Given the description of an element on the screen output the (x, y) to click on. 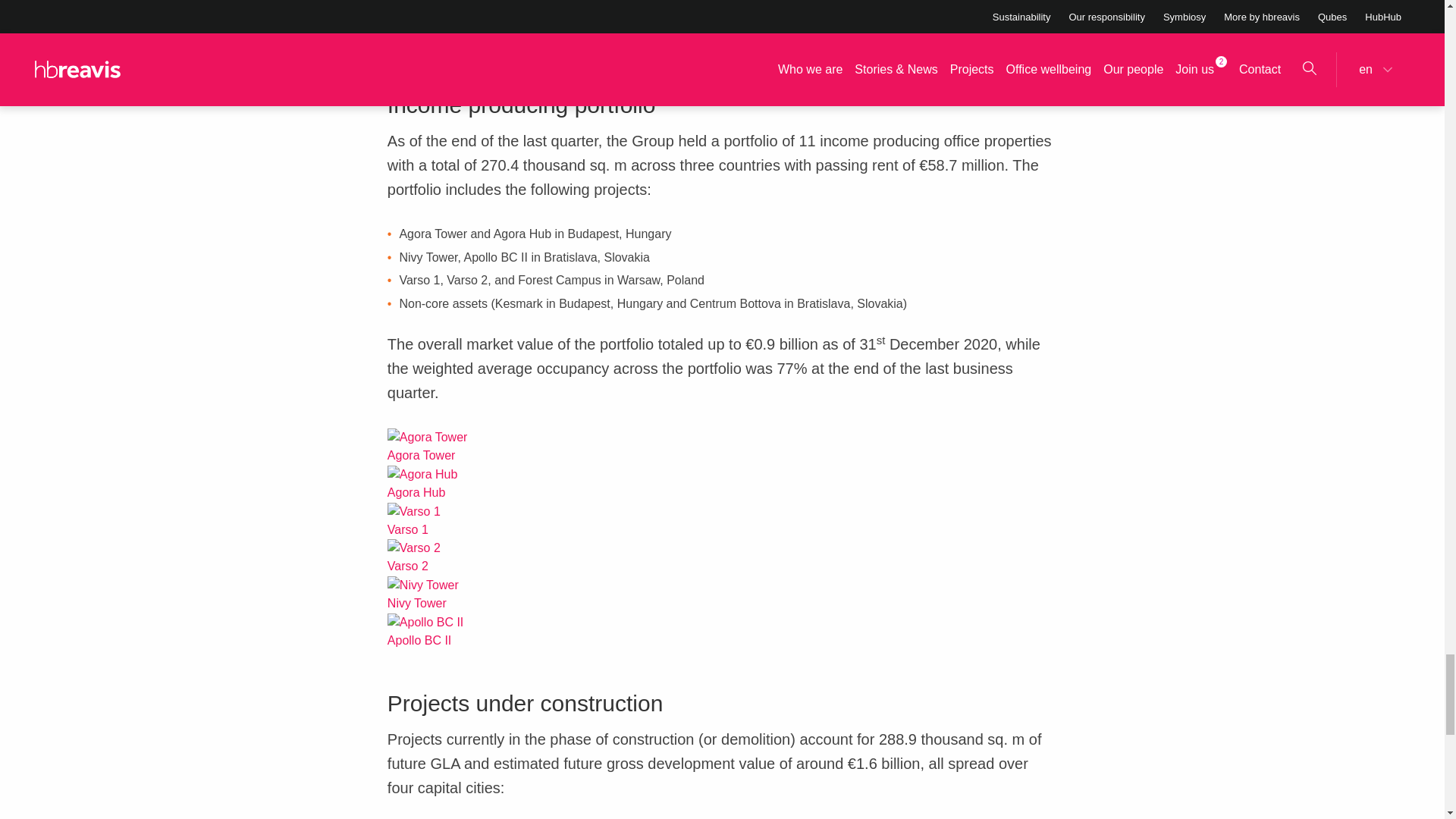
Nivy Tower (422, 585)
Agora Hub (422, 475)
Apollo BC II (425, 622)
Varso 1 (414, 511)
Varso 2 (414, 547)
Agora Tower (427, 437)
